Given the description of an element on the screen output the (x, y) to click on. 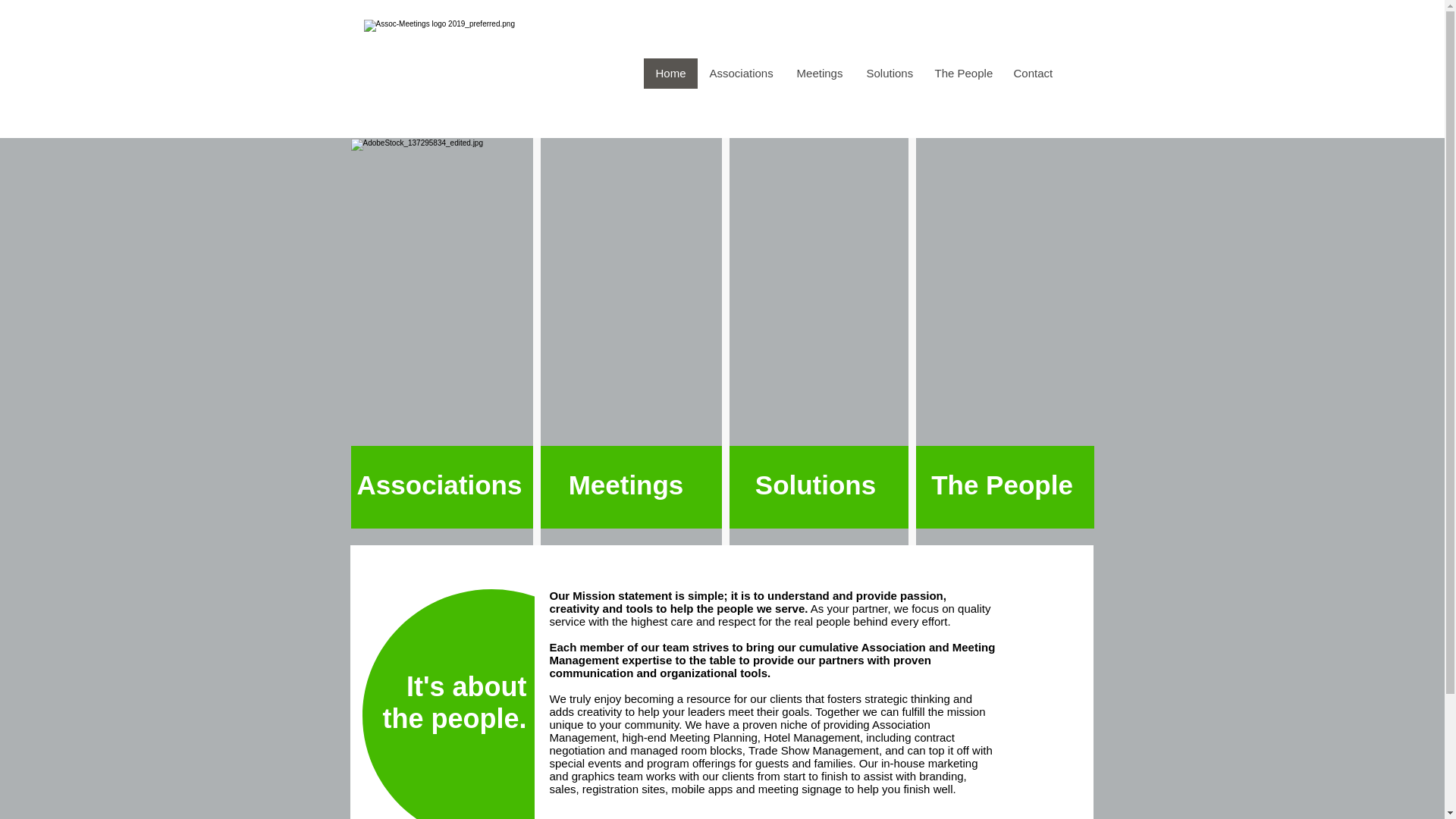
Associations (740, 73)
Solutions (815, 484)
Contact (1031, 73)
Meetings (626, 484)
Meetings (818, 73)
The People (1002, 484)
The People (961, 73)
Home (670, 73)
Solutions (887, 73)
Associations (439, 484)
